Given the description of an element on the screen output the (x, y) to click on. 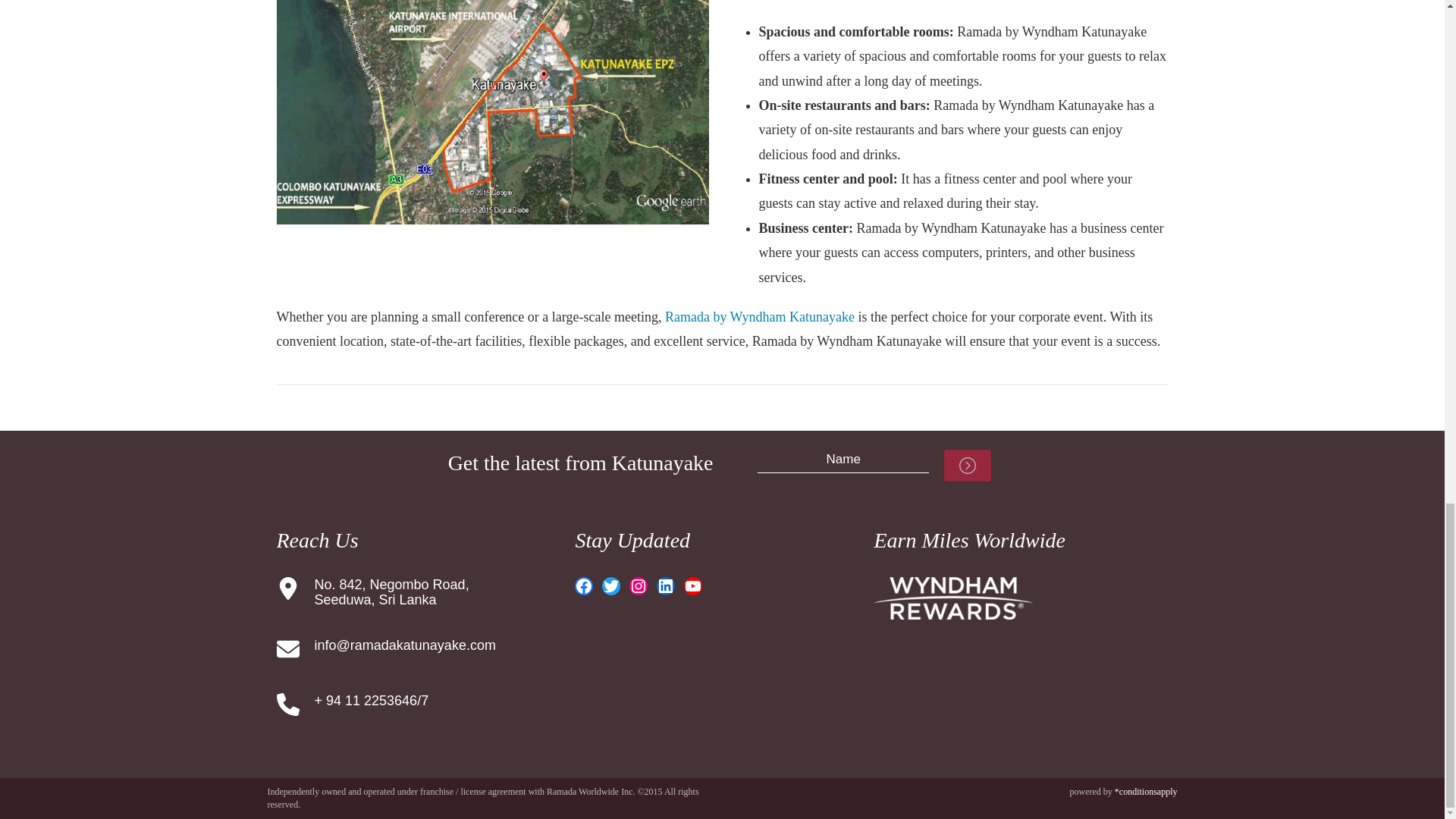
YouTube (692, 586)
Instagram (637, 586)
Twitter (611, 586)
LinkedIn (665, 586)
Ramada by Wyndham Katunayake (759, 316)
Facebook (583, 586)
